Given the description of an element on the screen output the (x, y) to click on. 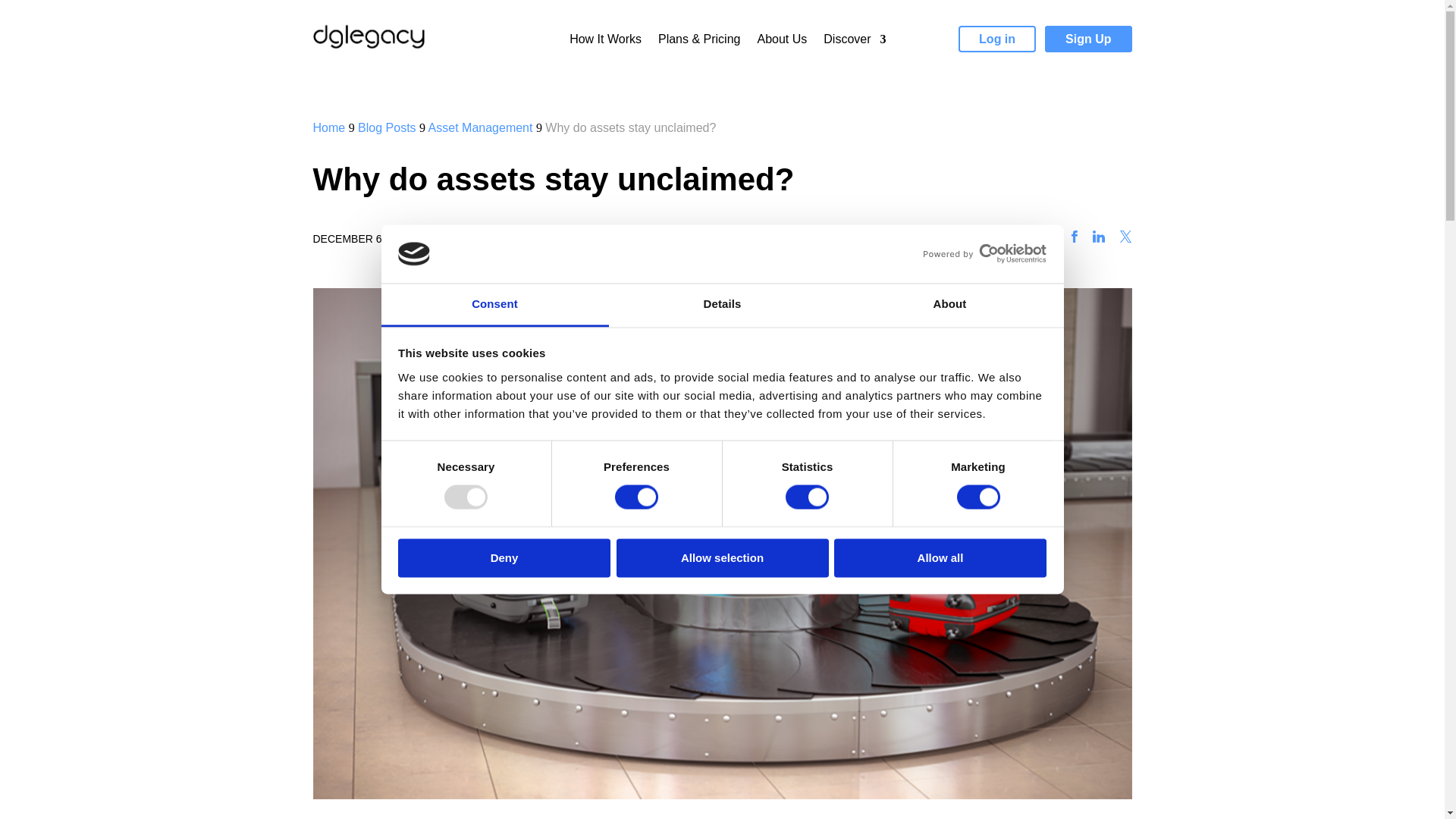
Allow all (940, 557)
How It Works (605, 42)
Allow selection (721, 557)
About Us (781, 42)
Consent (494, 304)
Details (721, 304)
Discover (854, 42)
Deny (503, 557)
About (948, 304)
